Given the description of an element on the screen output the (x, y) to click on. 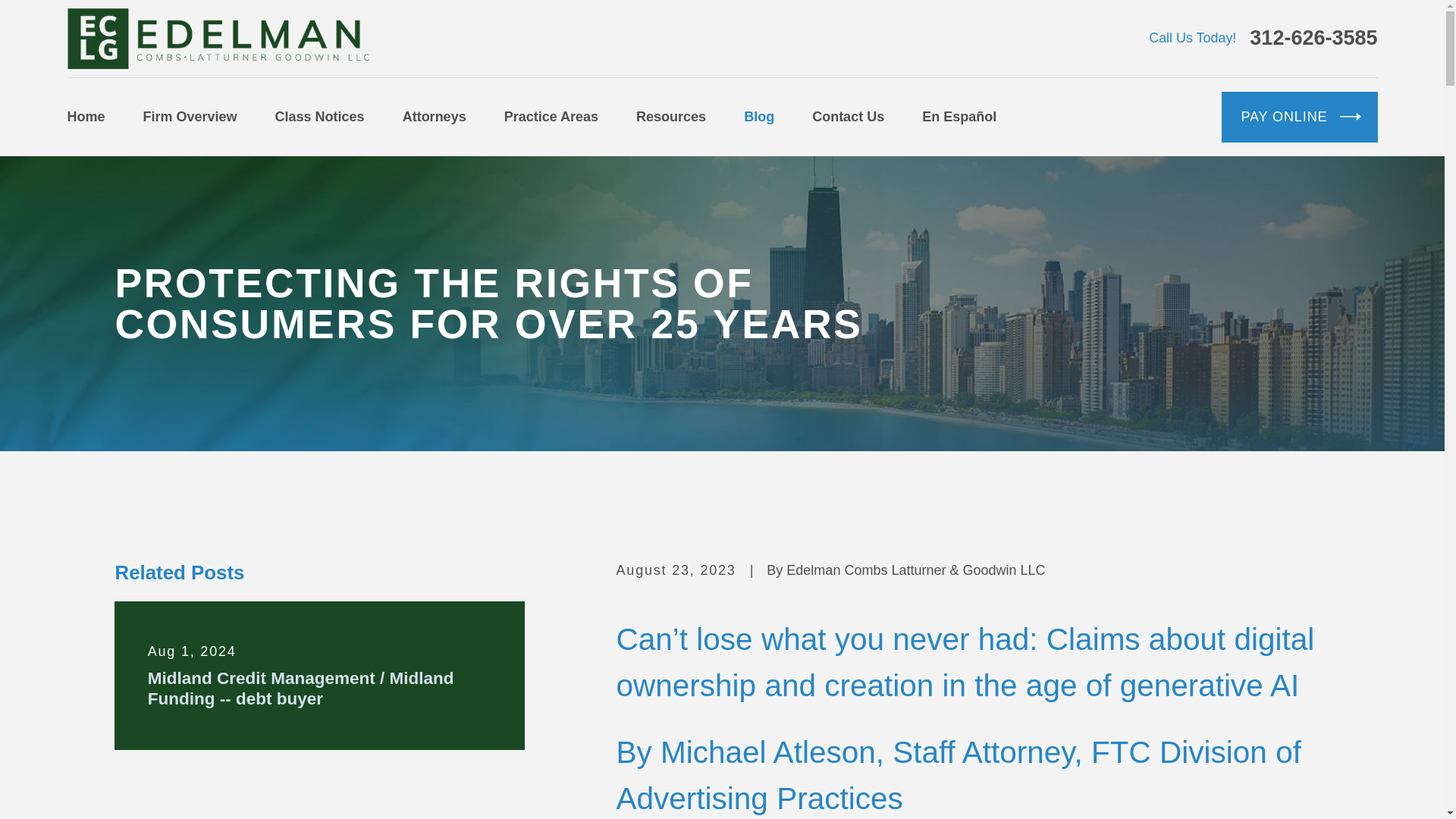
312-626-3585 (1313, 37)
Firm Overview (189, 117)
Class Notices (320, 117)
Practice Areas (550, 117)
Home (217, 38)
Attorneys (434, 117)
